Given the description of an element on the screen output the (x, y) to click on. 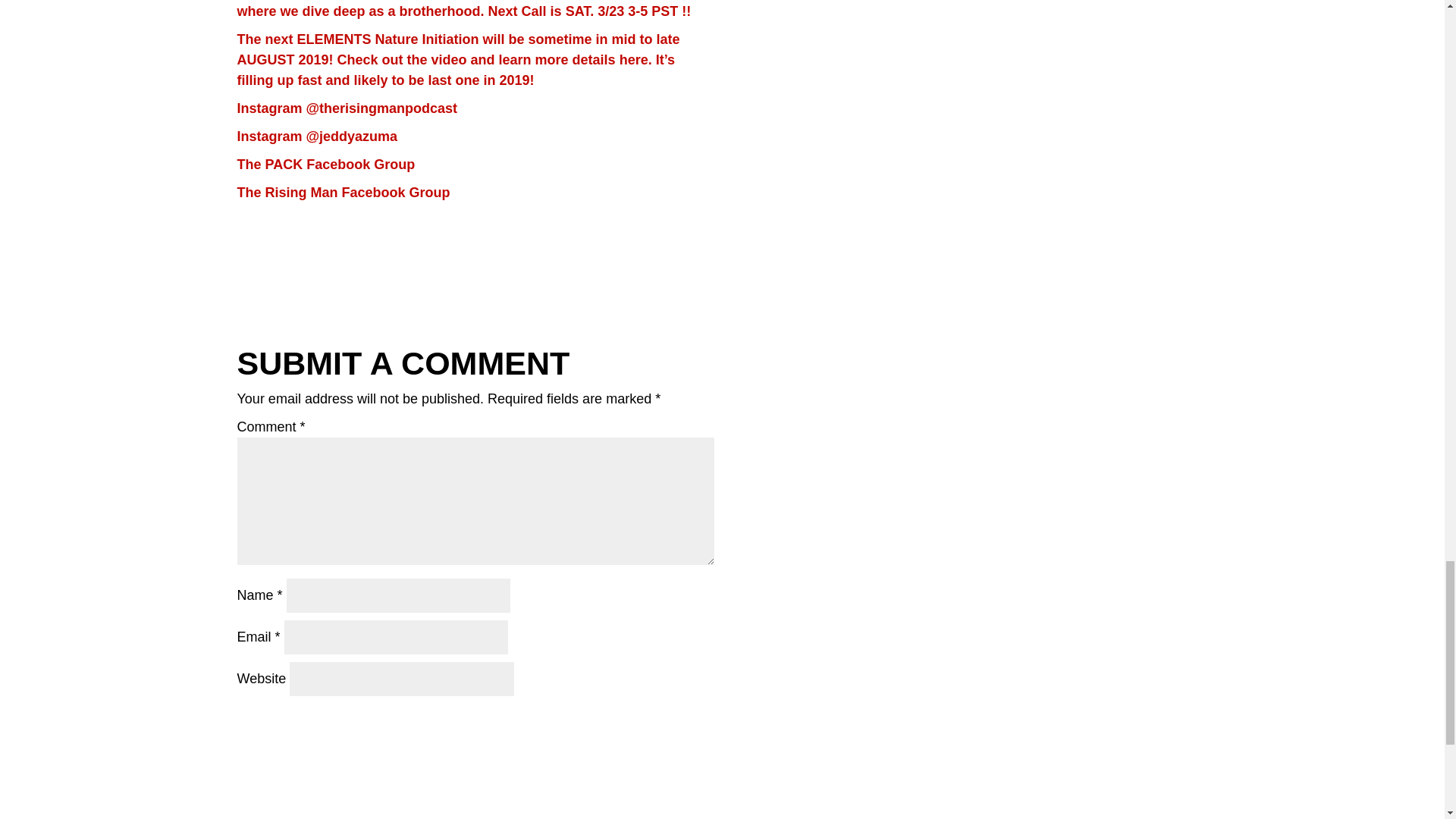
The PACK Facebook Group (324, 164)
The Rising Man Facebook Group (342, 192)
Submit Comment (627, 722)
Submit Comment (627, 722)
